Given the description of an element on the screen output the (x, y) to click on. 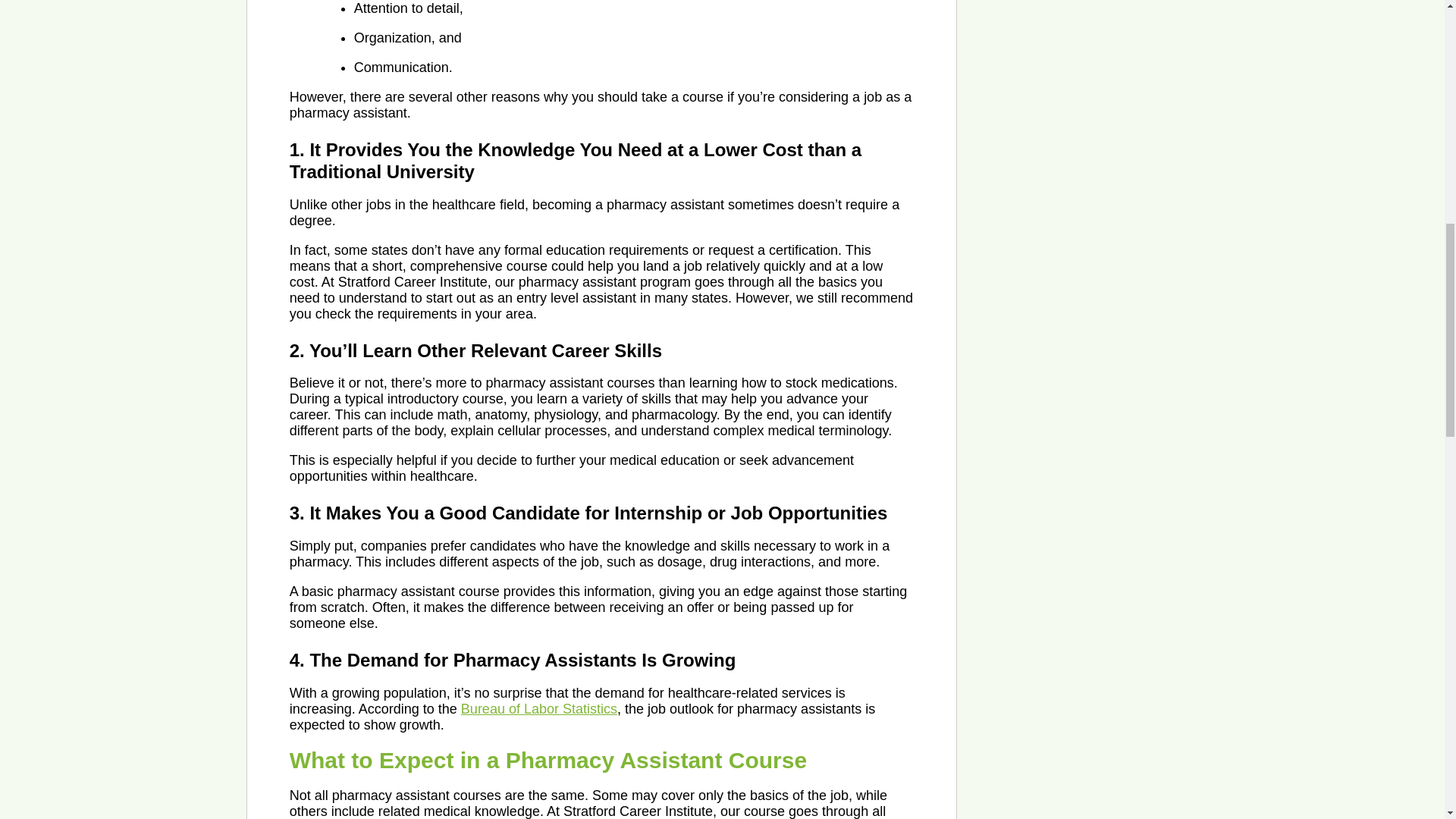
Bureau of Labor Statistics (539, 708)
